Given the description of an element on the screen output the (x, y) to click on. 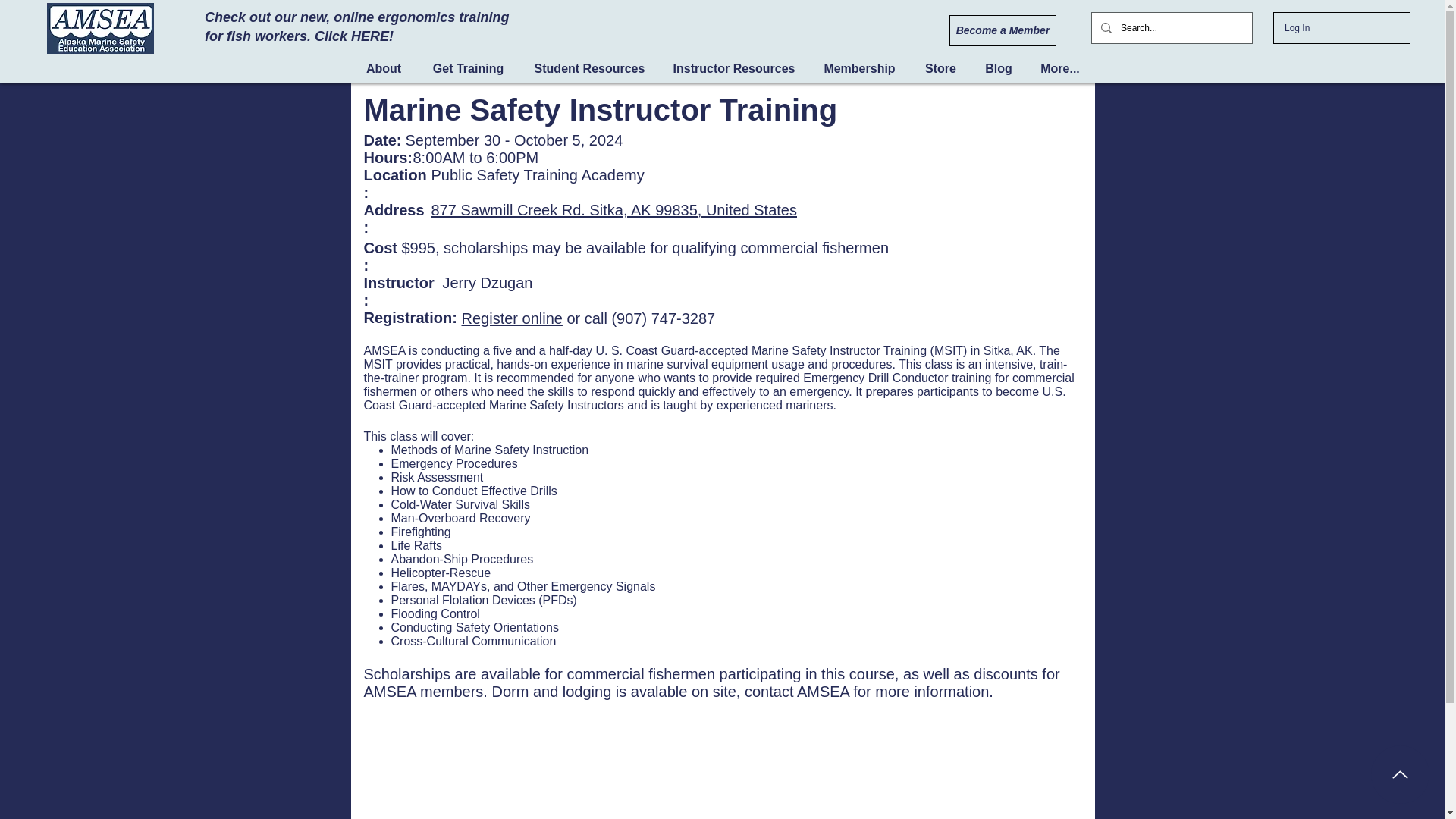
Student Resources (589, 68)
Click HERE! (353, 36)
About (383, 68)
Become a Member (1003, 30)
Get Training (467, 68)
Log In (1297, 28)
